Given the description of an element on the screen output the (x, y) to click on. 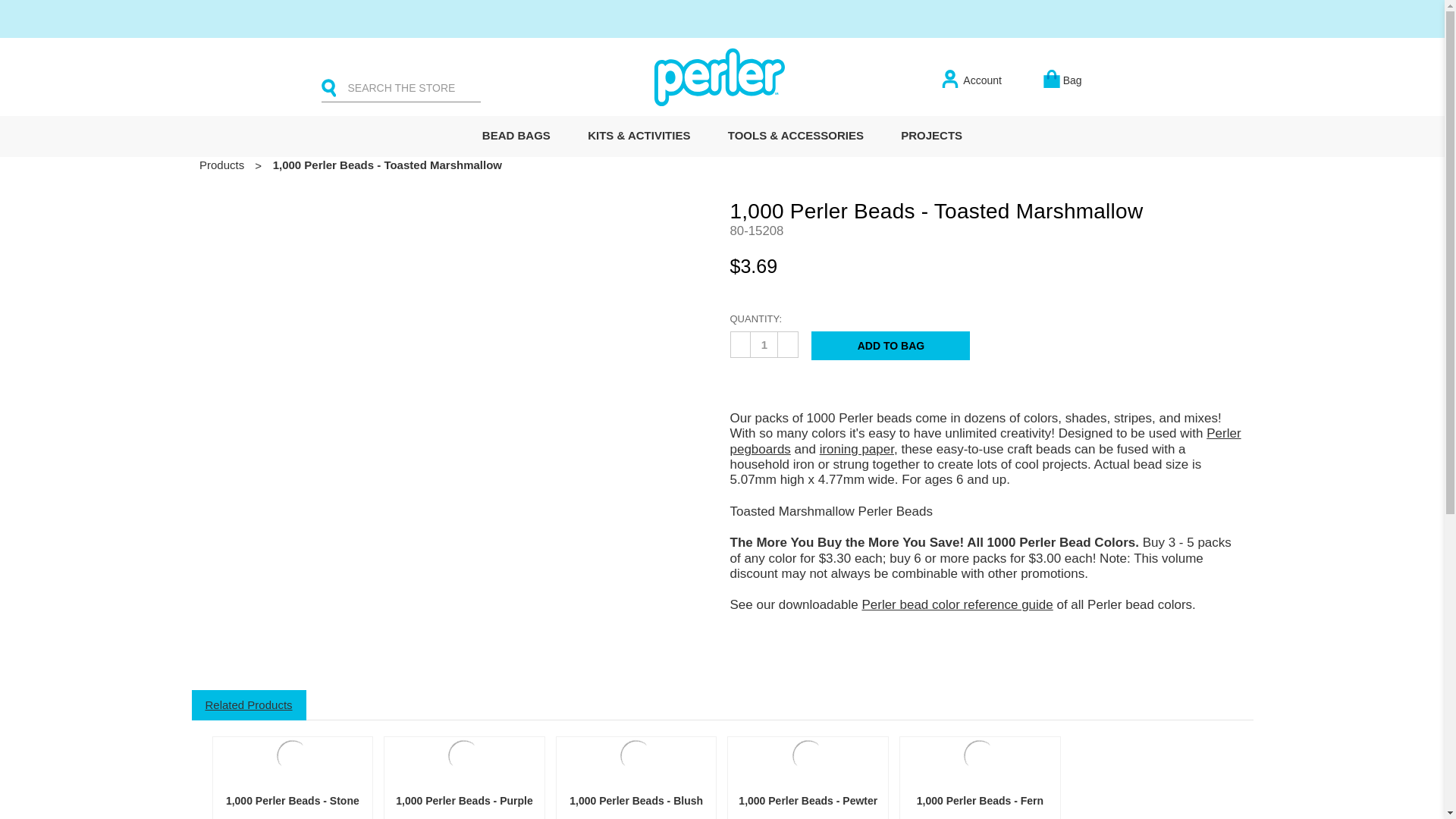
1000 Beads Blush (636, 755)
1,000 Perler Beads - Purple (464, 800)
Bag (1062, 79)
1000 Beads Purple (464, 755)
1,000 Perler Beads - Stone (292, 800)
Account (969, 79)
1,000 Perler Beads - Purple (464, 754)
Add to Bag (889, 345)
1 (764, 344)
Toggle Mobile Search (328, 84)
